Given the description of an element on the screen output the (x, y) to click on. 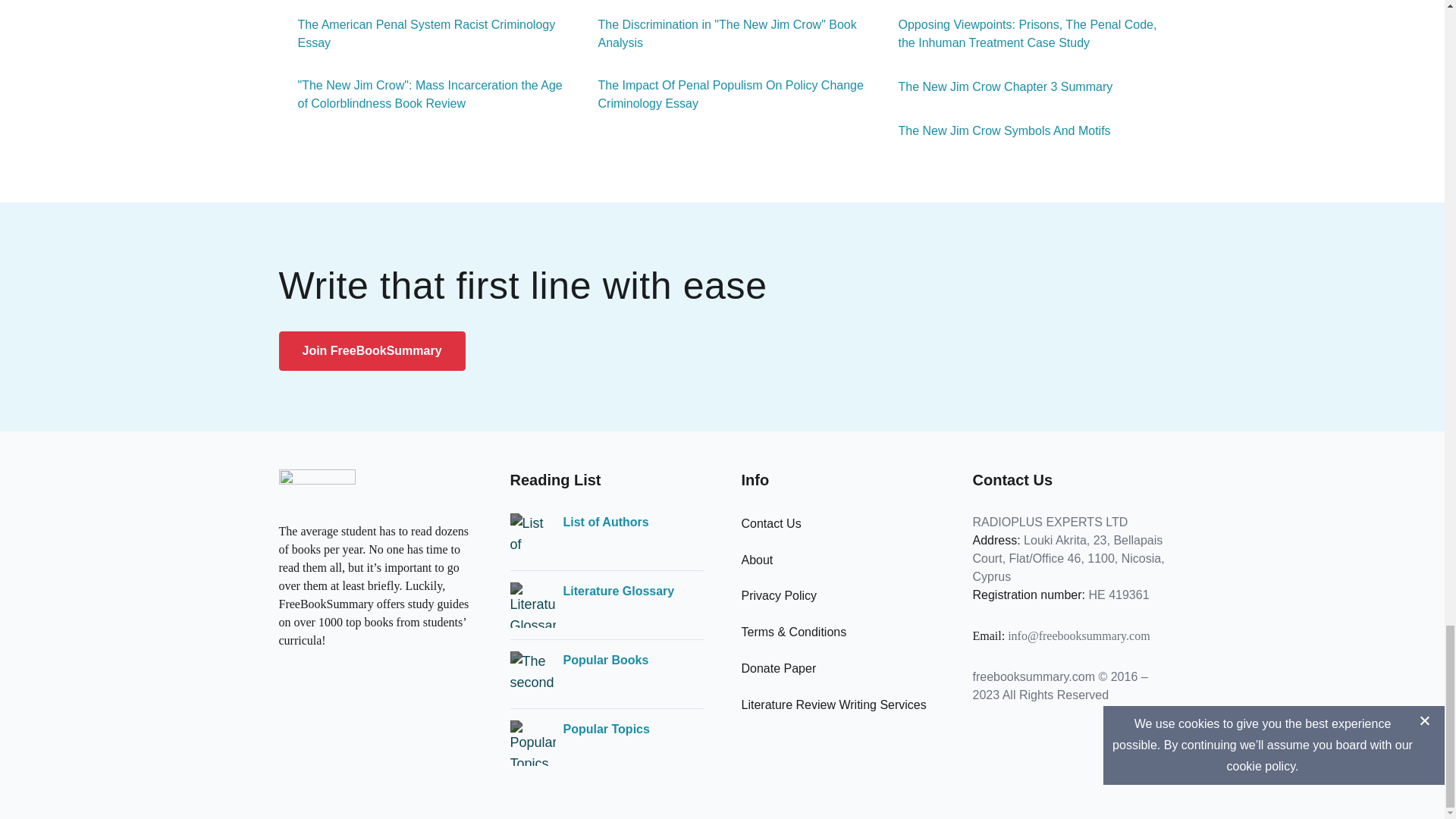
The New Jim Crow Symbols And Motifs (994, 131)
The New Jim Crow Chapter 3 Summary (996, 86)
About (757, 559)
Popular Topics (605, 729)
List of Authors (604, 522)
Literature Glossary (618, 591)
Privacy Policy (778, 594)
Contact Us (771, 522)
